Given the description of an element on the screen output the (x, y) to click on. 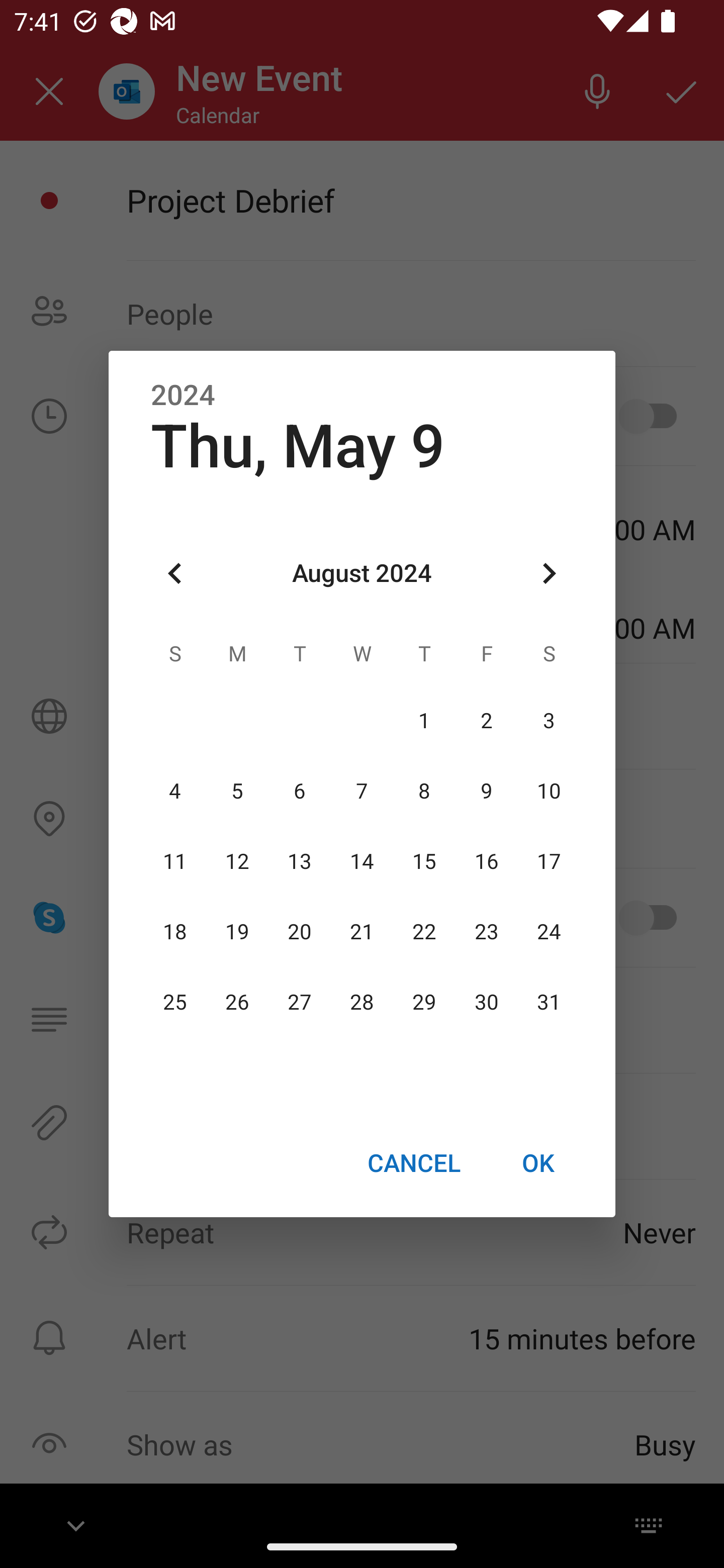
2024 (182, 395)
Thu, May 9 (297, 446)
Previous month (174, 573)
Next month (548, 573)
1 01 August 2024 (424, 720)
2 02 August 2024 (486, 720)
3 03 August 2024 (548, 720)
4 04 August 2024 (175, 790)
5 05 August 2024 (237, 790)
6 06 August 2024 (299, 790)
7 07 August 2024 (361, 790)
8 08 August 2024 (424, 790)
9 09 August 2024 (486, 790)
10 10 August 2024 (548, 790)
11 11 August 2024 (175, 861)
12 12 August 2024 (237, 861)
13 13 August 2024 (299, 861)
14 14 August 2024 (361, 861)
15 15 August 2024 (424, 861)
16 16 August 2024 (486, 861)
17 17 August 2024 (548, 861)
18 18 August 2024 (175, 931)
19 19 August 2024 (237, 931)
20 20 August 2024 (299, 931)
21 21 August 2024 (361, 931)
22 22 August 2024 (424, 931)
23 23 August 2024 (486, 931)
24 24 August 2024 (548, 931)
25 25 August 2024 (175, 1002)
26 26 August 2024 (237, 1002)
27 27 August 2024 (299, 1002)
28 28 August 2024 (361, 1002)
29 29 August 2024 (424, 1002)
30 30 August 2024 (486, 1002)
31 31 August 2024 (548, 1002)
CANCEL (413, 1162)
OK (537, 1162)
